Given the description of an element on the screen output the (x, y) to click on. 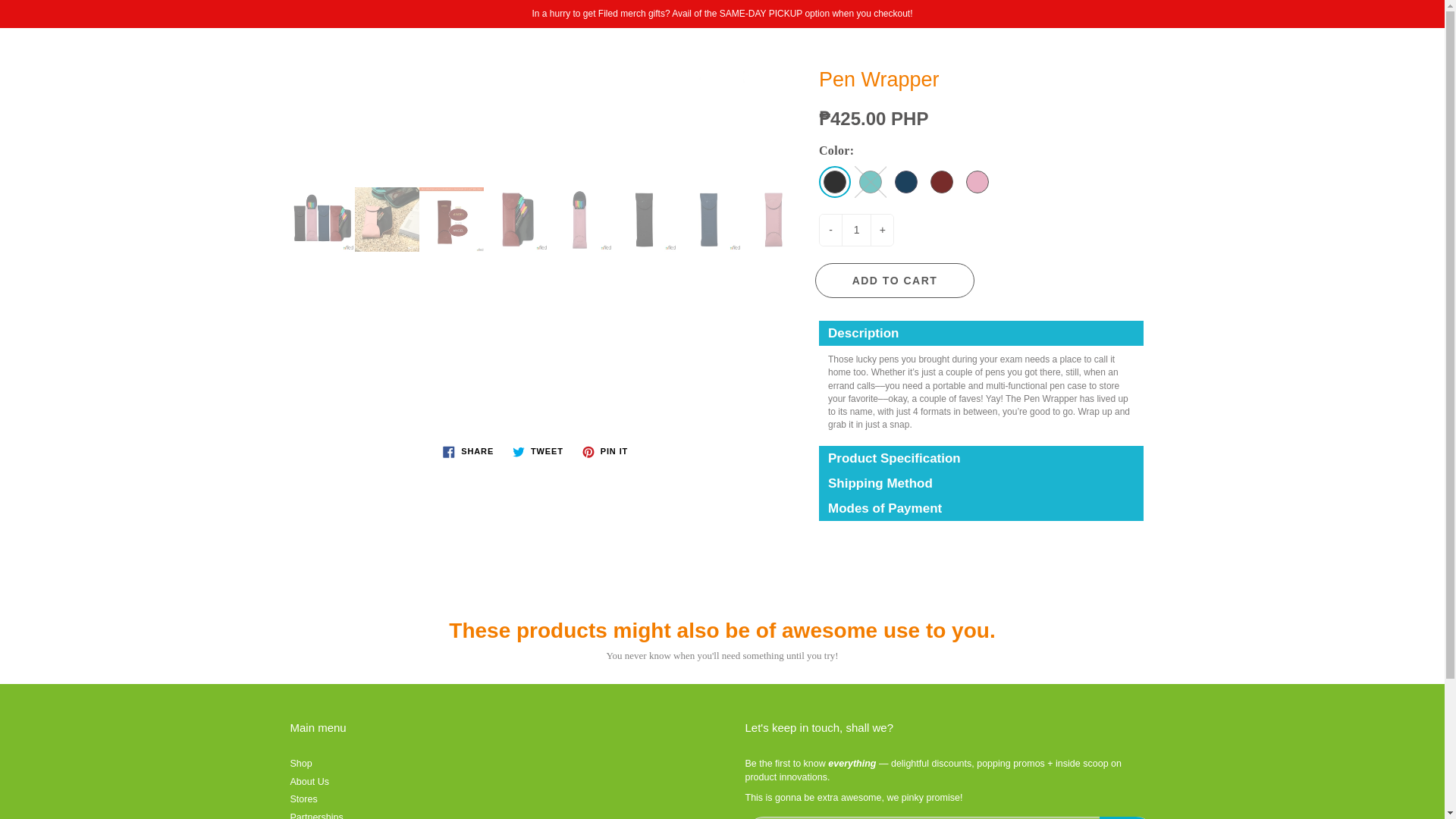
Pen Wrapper (321, 219)
REVIEWS (945, 136)
1 (855, 229)
PARTNERSHIPS (817, 136)
SHOP (491, 136)
You have 0 items in your cart (1417, 54)
My account (1379, 54)
Search (28, 54)
ABOUT US (591, 136)
STORES (693, 136)
